Given the description of an element on the screen output the (x, y) to click on. 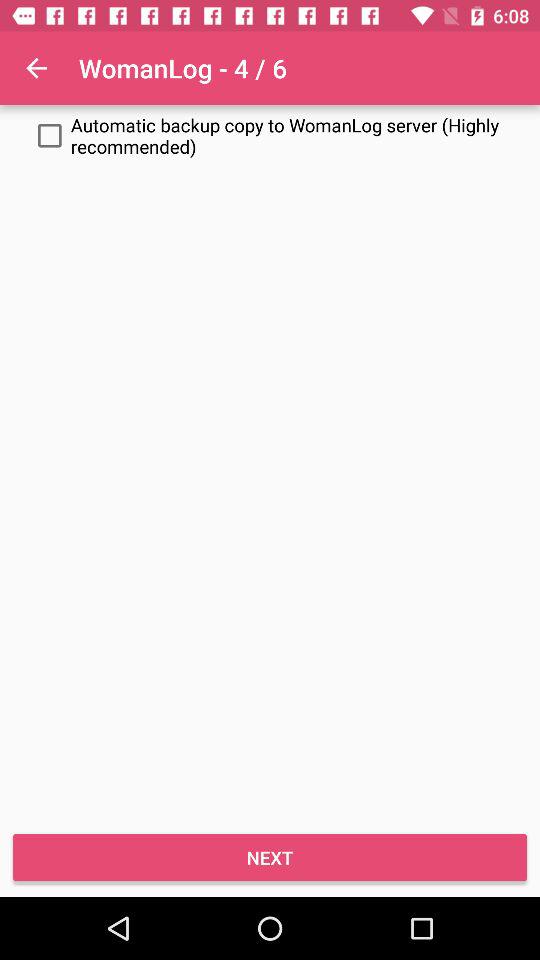
open icon next to the womanlog - 4 / 6 (36, 68)
